Given the description of an element on the screen output the (x, y) to click on. 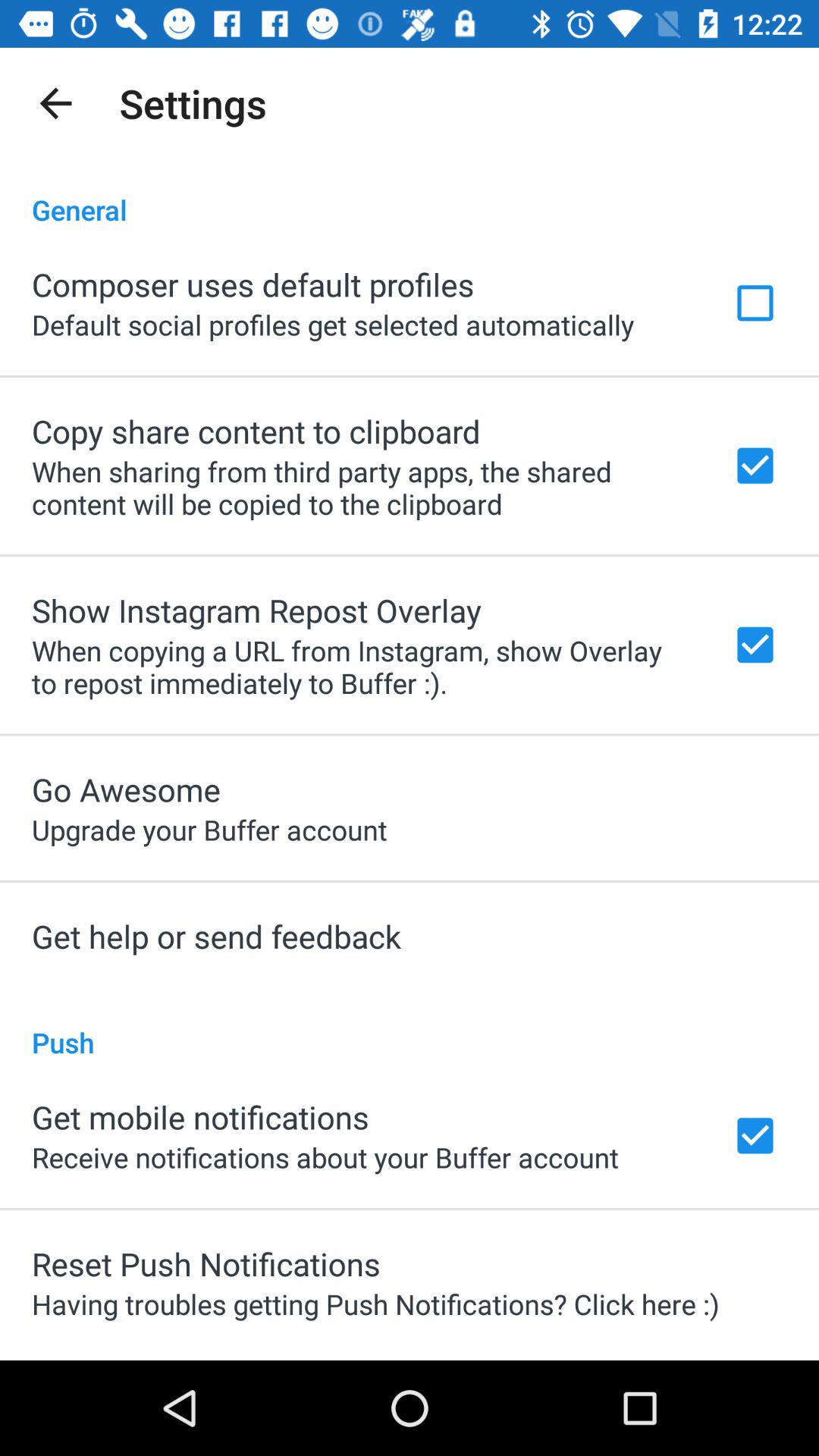
launch item below general app (252, 283)
